Given the description of an element on the screen output the (x, y) to click on. 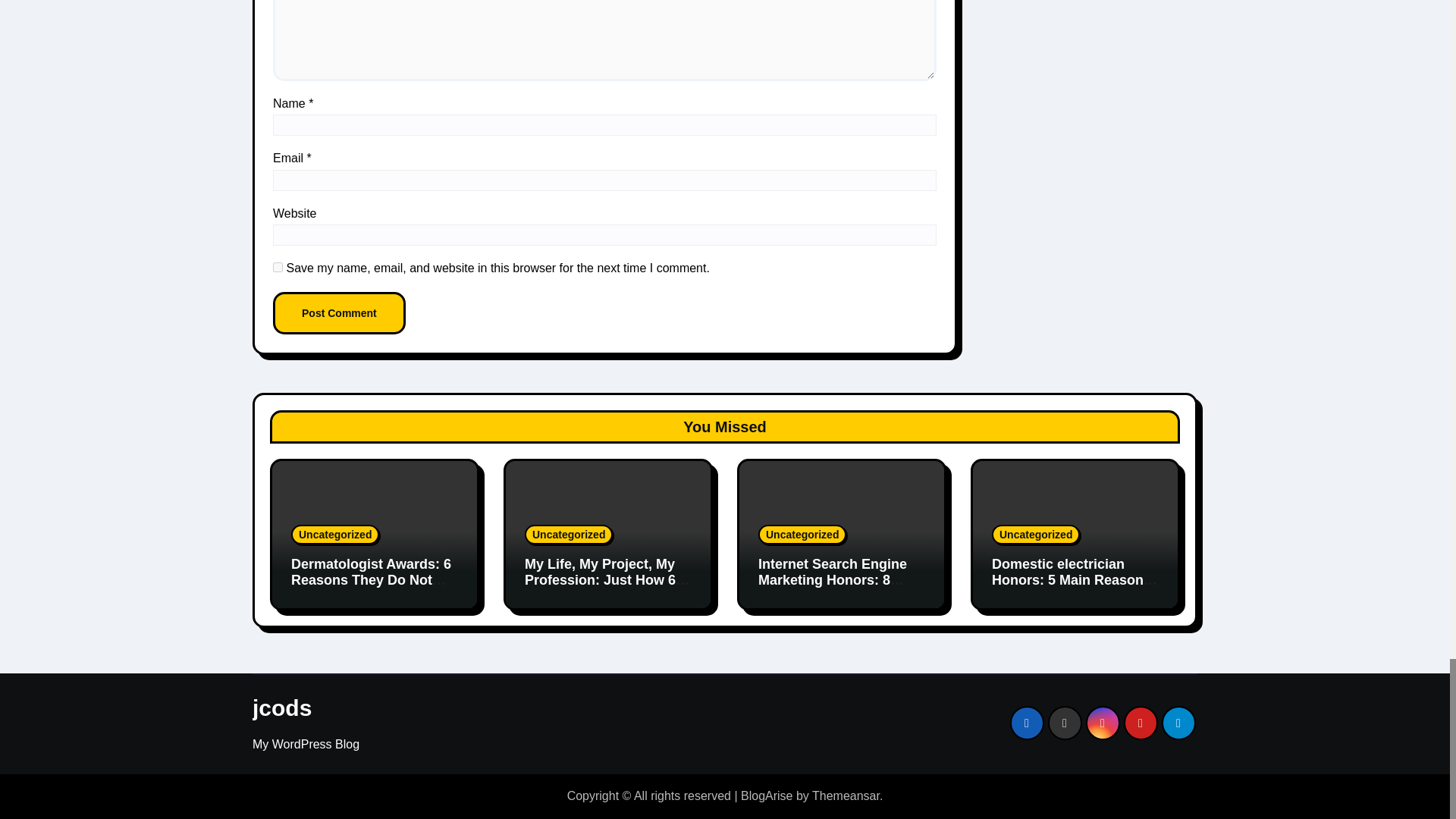
yes (277, 266)
Post Comment (339, 312)
